Given the description of an element on the screen output the (x, y) to click on. 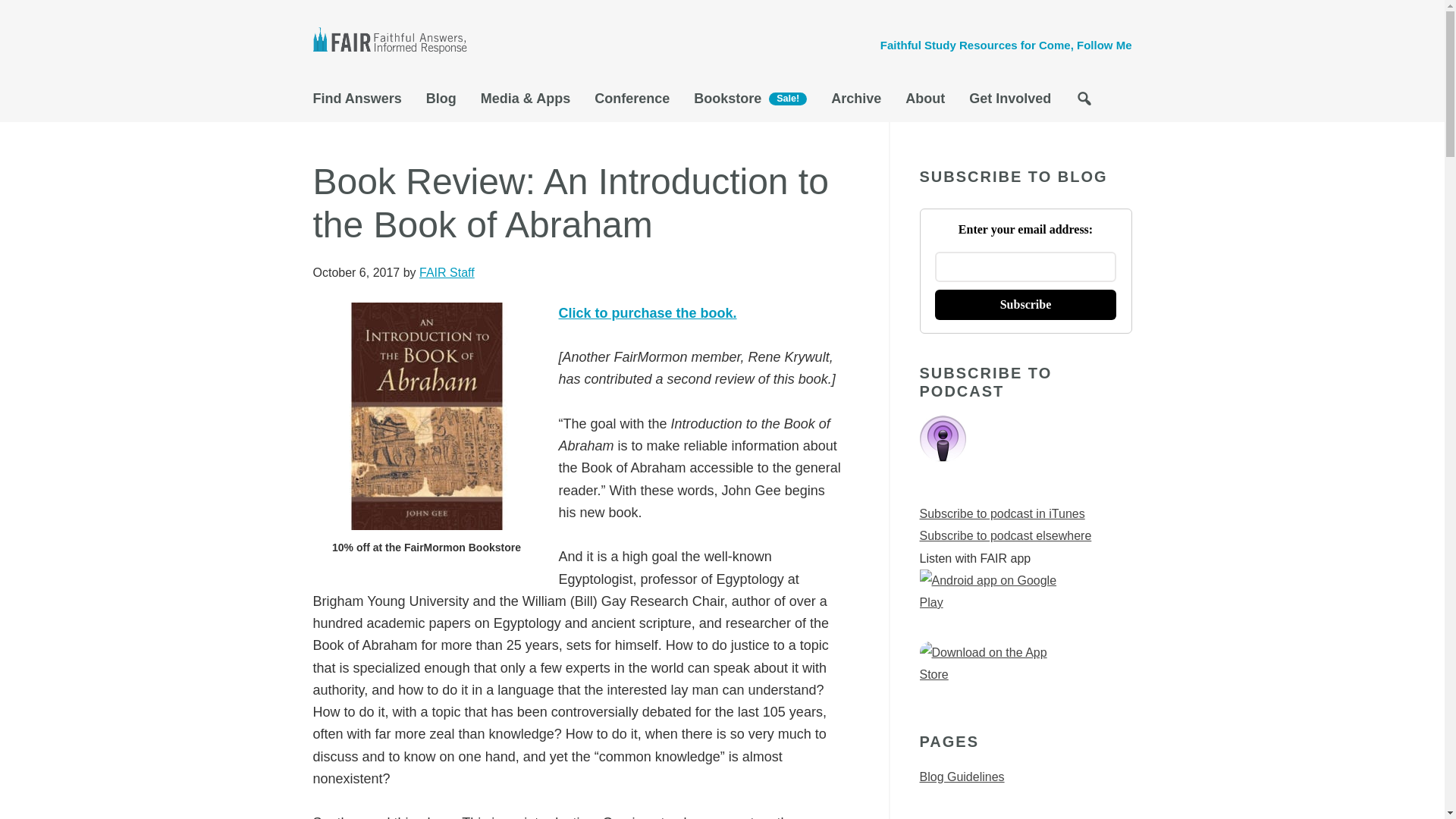
Conference (631, 102)
Archive (855, 102)
Blog (440, 102)
Subscribe (1025, 304)
Subscribe to podcast in iTunes (1001, 513)
Click to purchase the book. (646, 313)
About (924, 102)
Faithful Study Resources for Come, Follow Me (1006, 44)
Find Answers (363, 102)
Bookstore (749, 103)
Subscribe to podcast elsewhere (1004, 535)
Blog Guidelines (961, 776)
FAIR (396, 42)
FAIR Staff (446, 272)
